Given the description of an element on the screen output the (x, y) to click on. 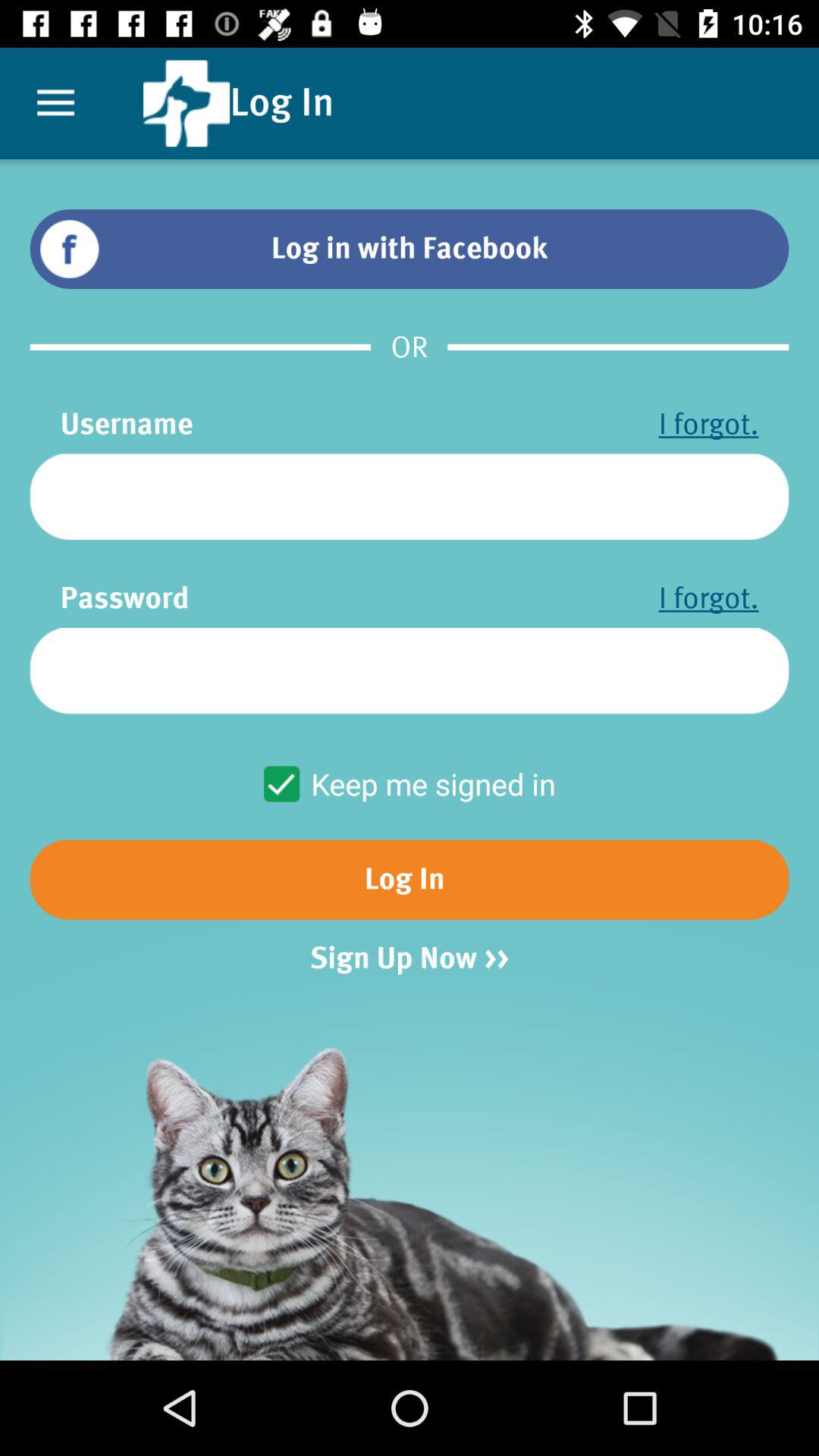
toggle security option (409, 670)
